Given the description of an element on the screen output the (x, y) to click on. 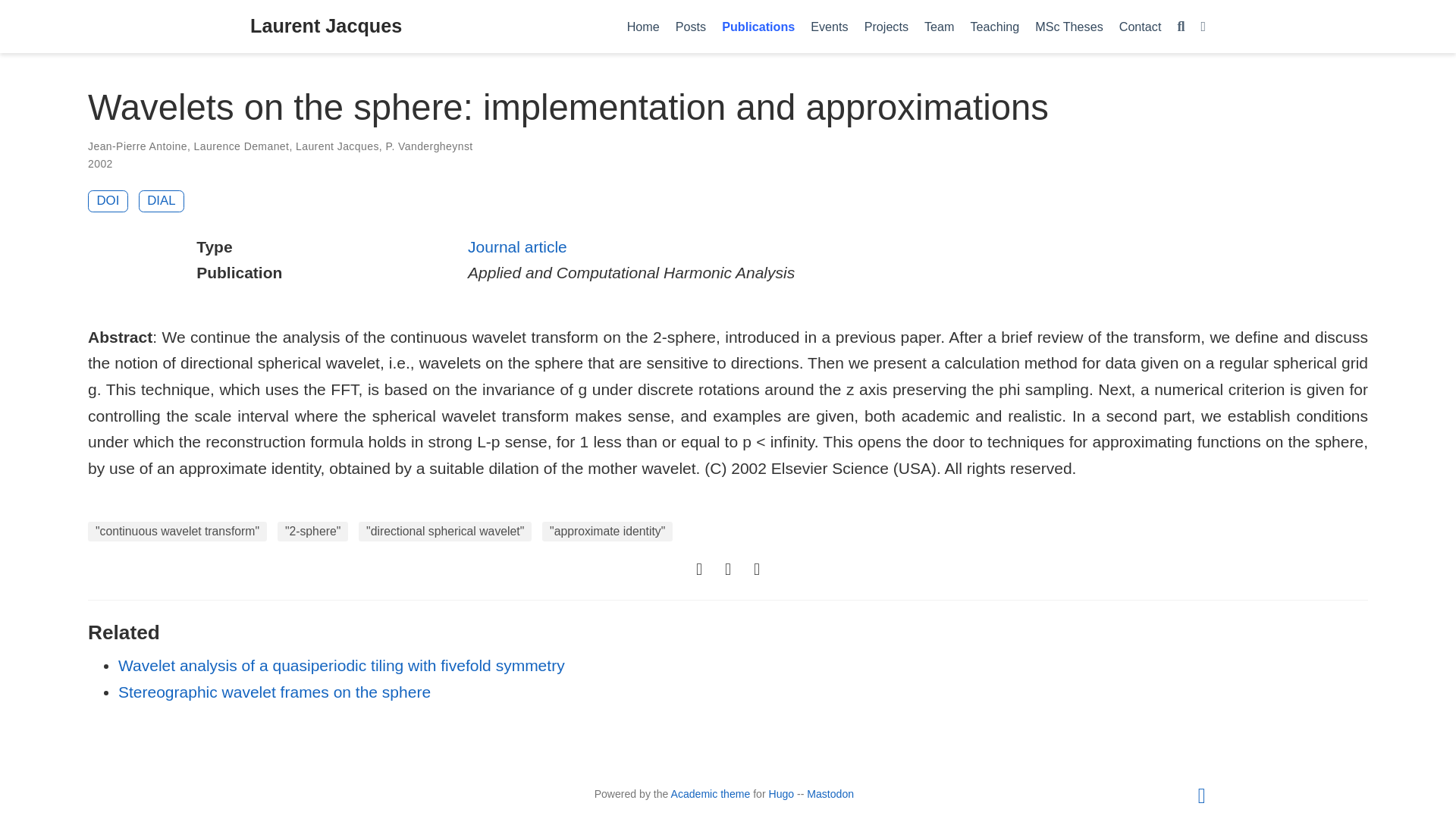
Contact (1139, 25)
Teaching (994, 25)
"2-sphere" (312, 531)
Projects (885, 25)
Laurent Jacques (325, 26)
Journal article (517, 246)
"directional spherical wavelet" (444, 531)
Laurent Jacques (336, 146)
Publications (758, 25)
Jean-Pierre Antoine (137, 146)
Team (939, 25)
P. Vandergheynst (428, 146)
DIAL (161, 201)
Events (829, 25)
